Given the description of an element on the screen output the (x, y) to click on. 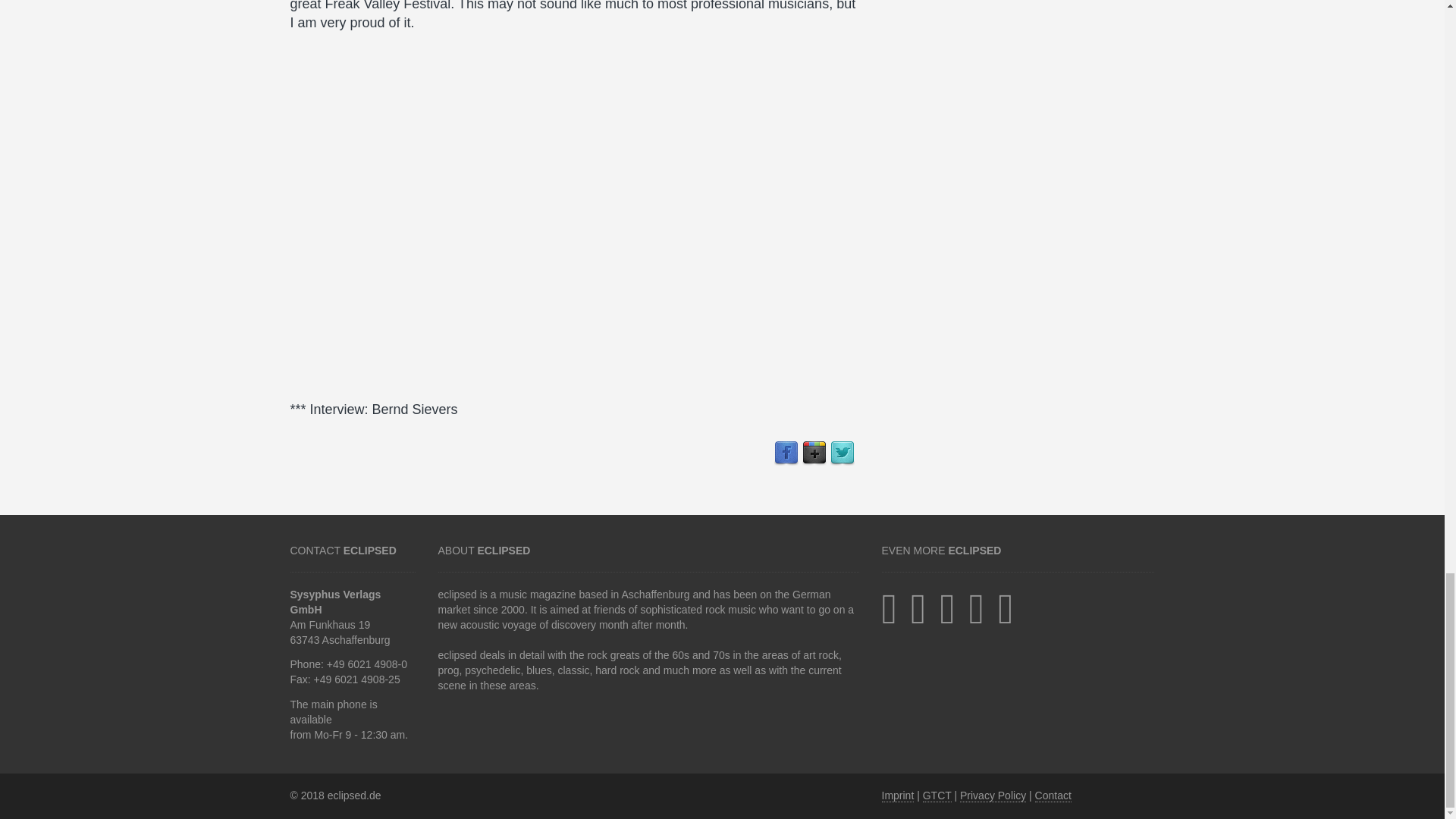
GTCT (937, 795)
Twitter (841, 453)
Google Plus (814, 453)
Google Plus (814, 453)
Twitter (841, 453)
